Given the description of an element on the screen output the (x, y) to click on. 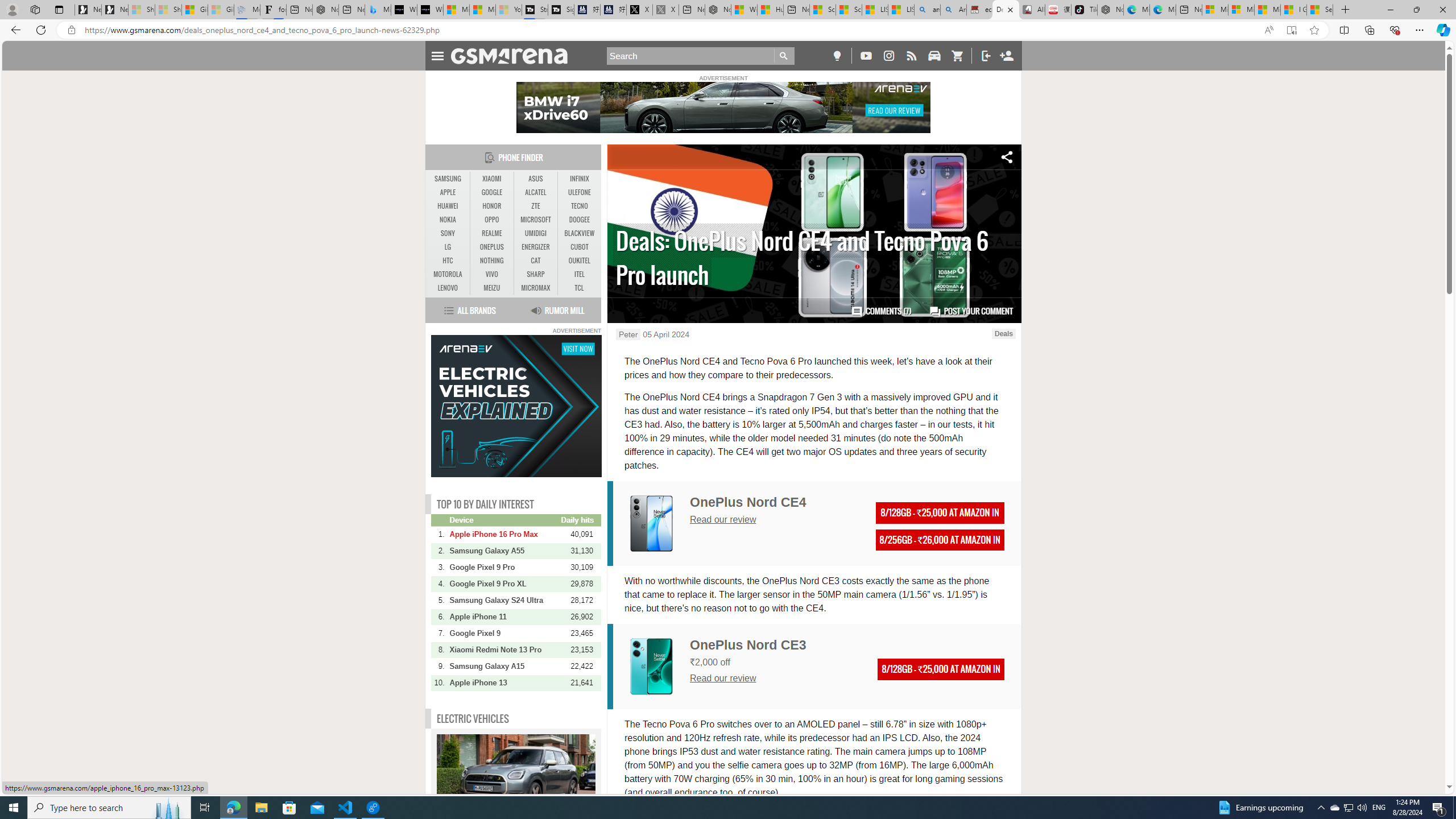
Toggle Navigation (437, 53)
Read our review (723, 678)
ZTE (535, 206)
INFINIX (579, 178)
Enter Immersive Reader (F9) (1291, 29)
